Given the description of an element on the screen output the (x, y) to click on. 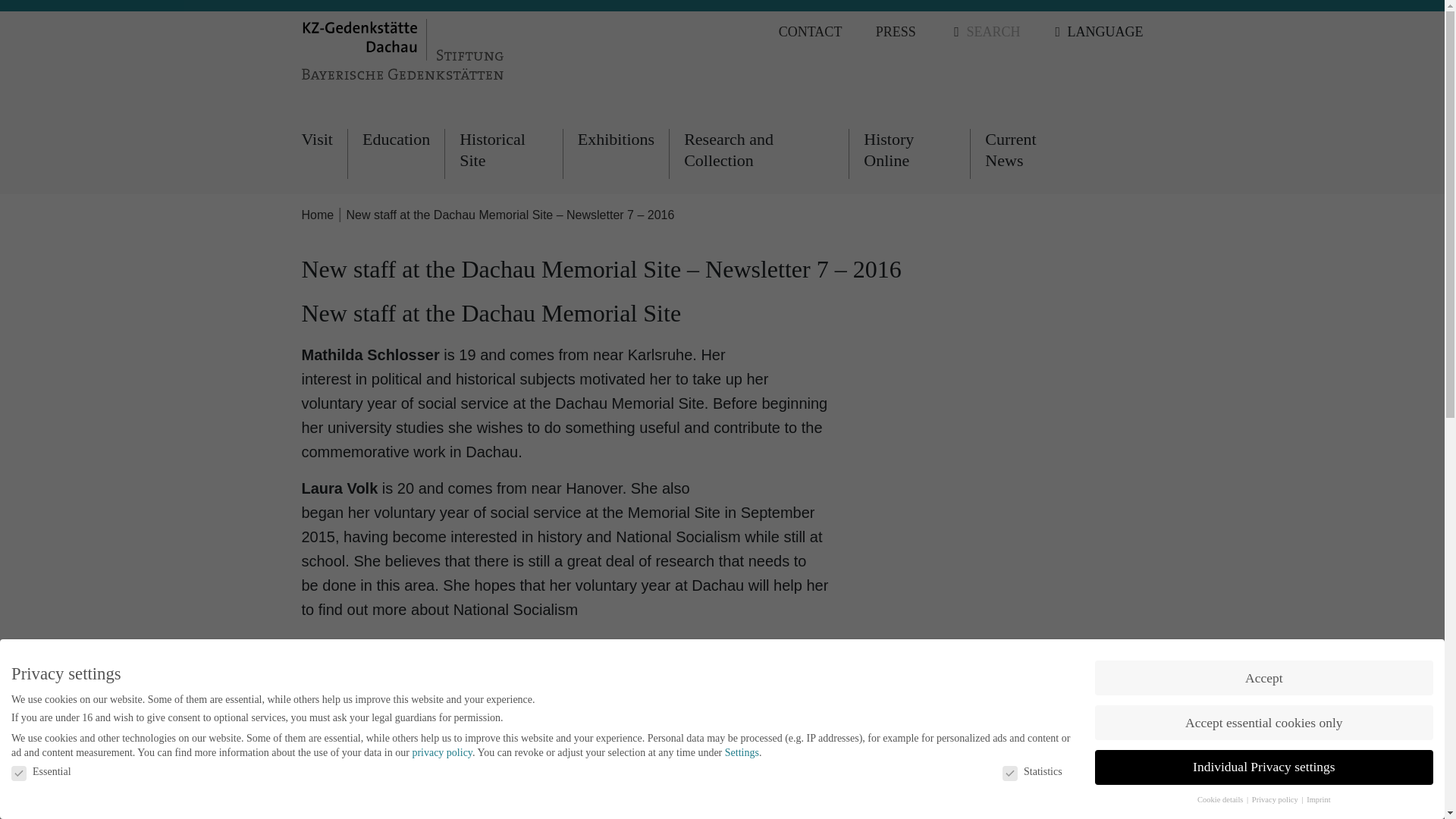
CONTACT (810, 31)
PRESS (895, 31)
SEARCH (987, 31)
